Given the description of an element on the screen output the (x, y) to click on. 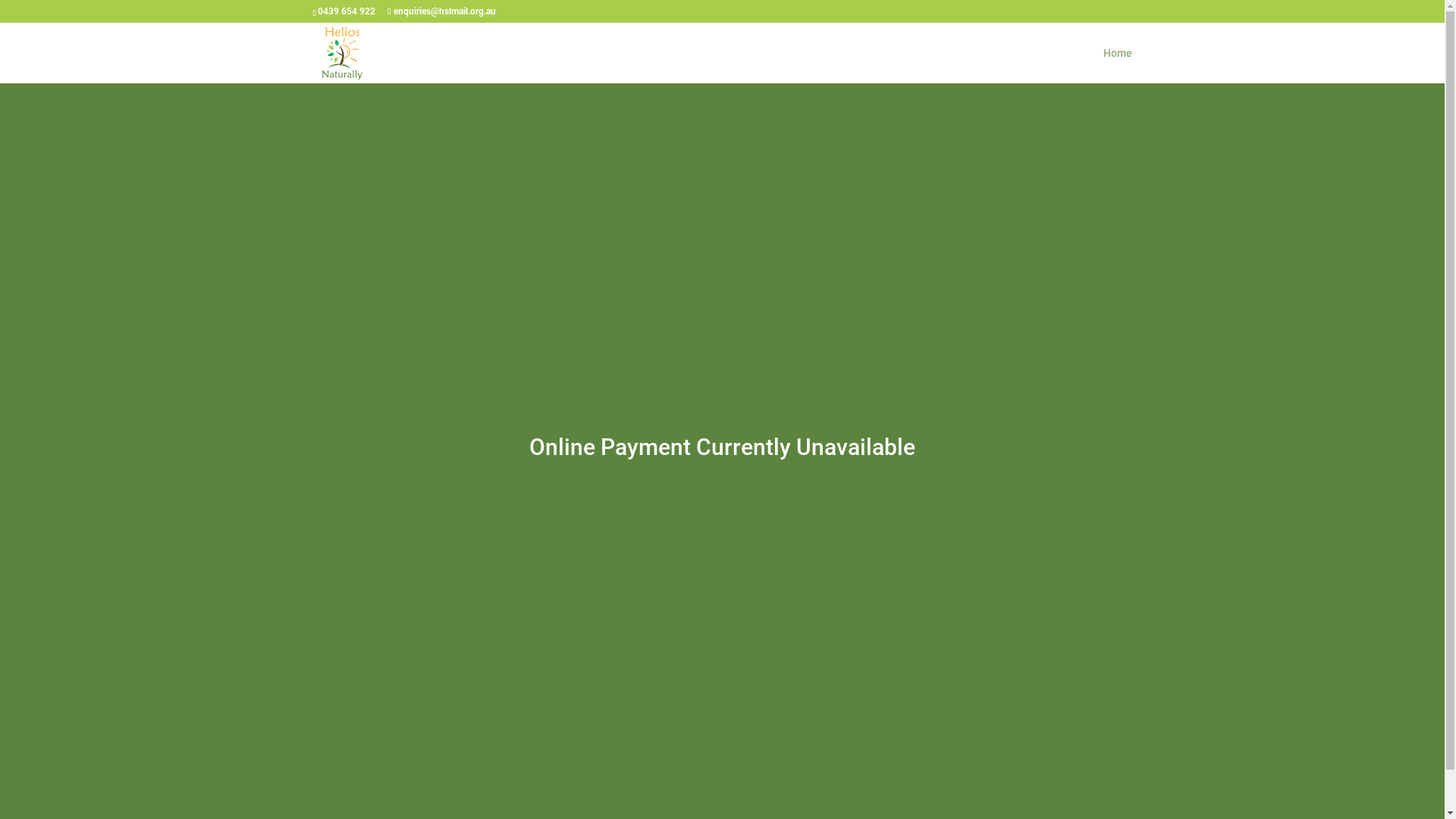
Home Element type: text (1116, 65)
enquiries@hslmail.org.au Element type: text (441, 11)
